Given the description of an element on the screen output the (x, y) to click on. 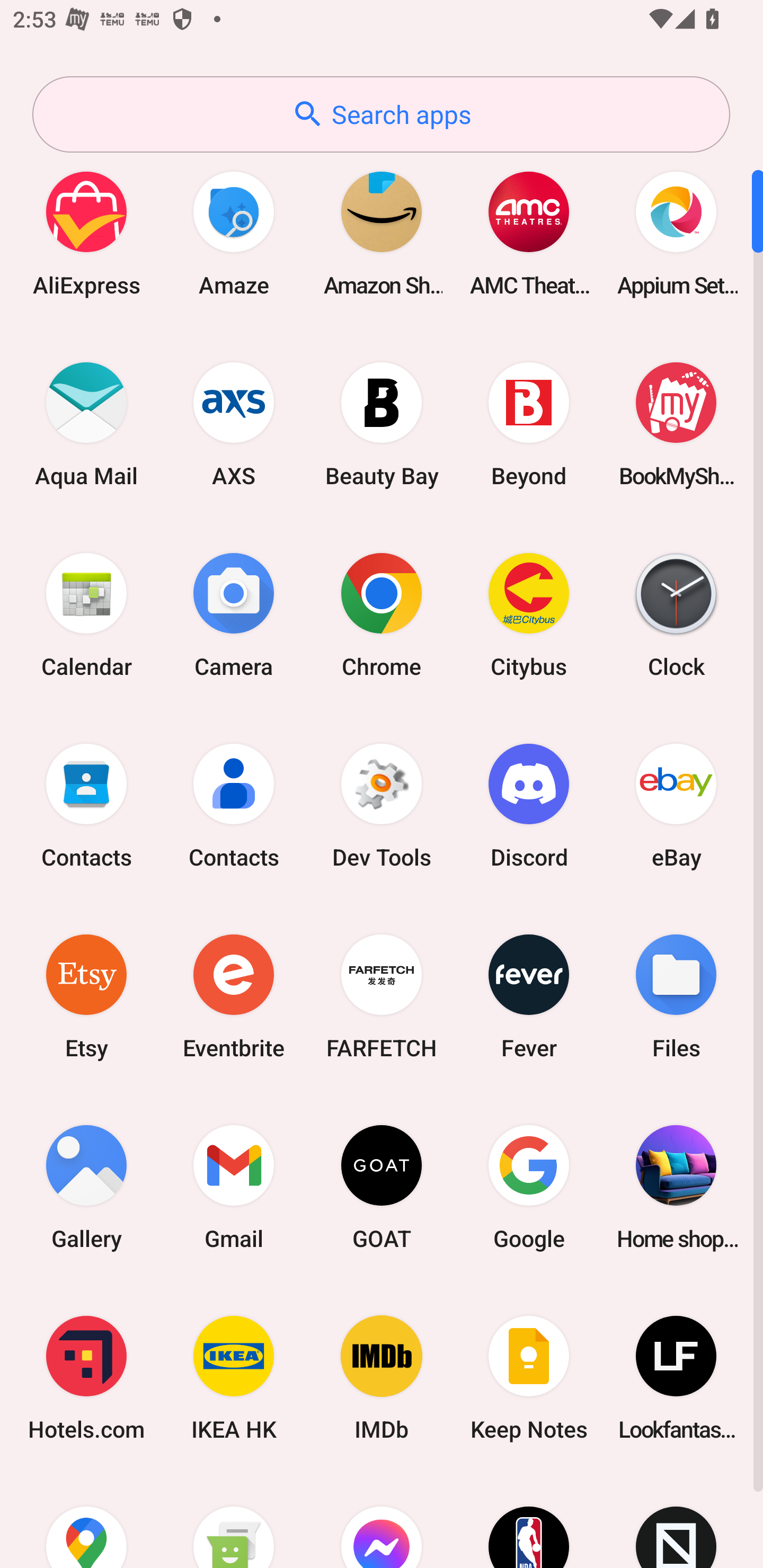
  Search apps (381, 114)
AliExpress (86, 233)
Amaze (233, 233)
Amazon Shopping (381, 233)
AMC Theatres (528, 233)
Appium Settings (676, 233)
Aqua Mail (86, 424)
AXS (233, 424)
Beauty Bay (381, 424)
Beyond (528, 424)
BookMyShow (676, 424)
Calendar (86, 614)
Camera (233, 614)
Chrome (381, 614)
Citybus (528, 614)
Clock (676, 614)
Contacts (86, 805)
Contacts (233, 805)
Dev Tools (381, 805)
Discord (528, 805)
eBay (676, 805)
Etsy (86, 996)
Eventbrite (233, 996)
FARFETCH (381, 996)
Fever (528, 996)
Files (676, 996)
Gallery (86, 1186)
Gmail (233, 1186)
GOAT (381, 1186)
Google (528, 1186)
Home shopping (676, 1186)
Hotels.com (86, 1377)
IKEA HK (233, 1377)
IMDb (381, 1377)
Keep Notes (528, 1377)
Lookfantastic (676, 1377)
